Given the description of an element on the screen output the (x, y) to click on. 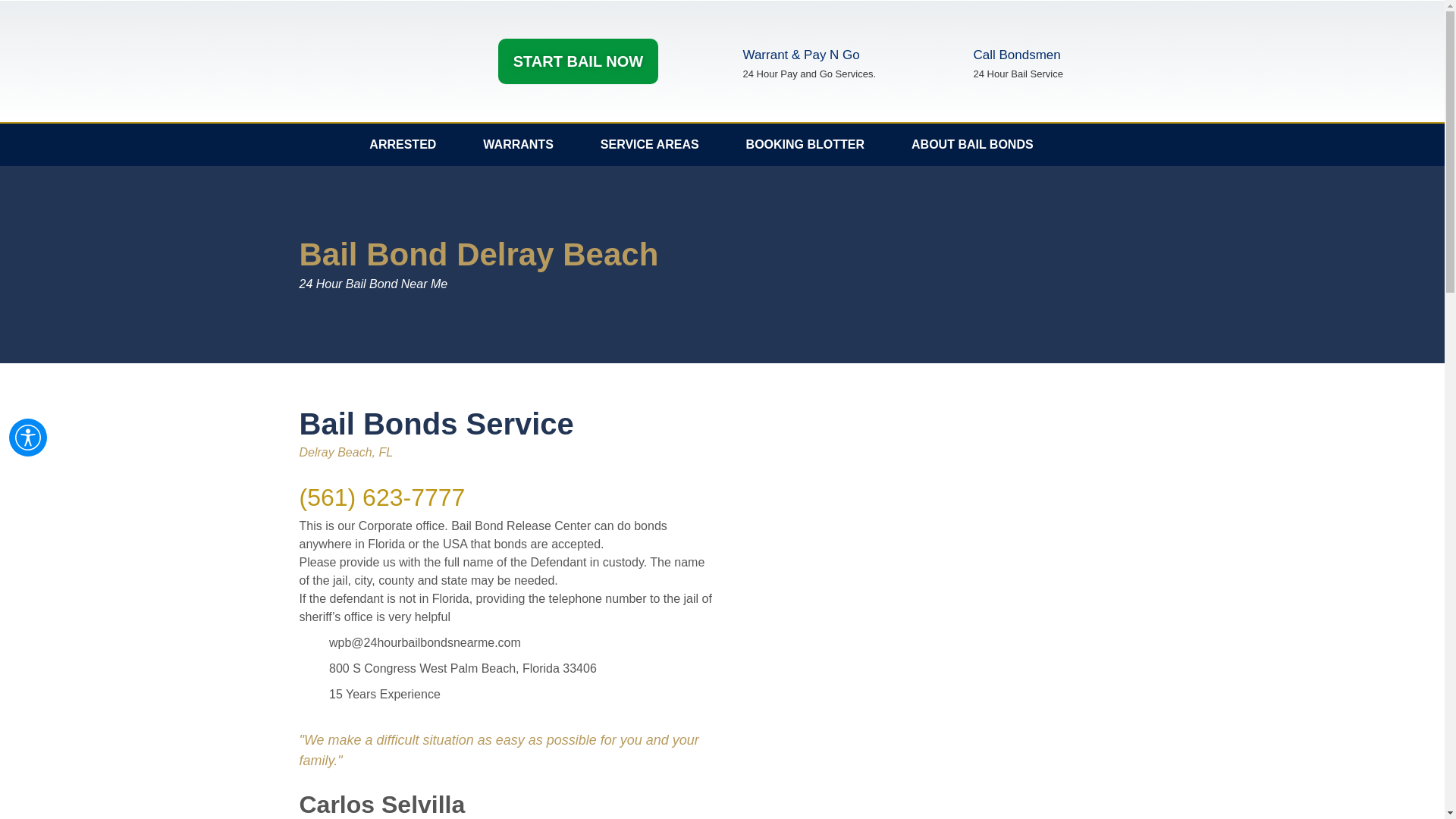
800 S Congress West Palm Beach, Florida 33406 Element type: text (505, 668)
(561) 623-7777 Element type: text (381, 497)
Call Bondsmen Element type: text (1016, 54)
WARRANTS Element type: text (517, 144)
SERVICE AREAS Element type: text (649, 144)
wpb@24hourbailbondsnearme.com Element type: text (505, 642)
ABOUT BAIL BONDS Element type: text (972, 144)
BOOKING BLOTTER Element type: text (805, 144)
START BAIL NOW Element type: text (578, 61)
ARRESTED Element type: text (402, 144)
Warrant & Pay N Go Element type: text (800, 54)
